Given the description of an element on the screen output the (x, y) to click on. 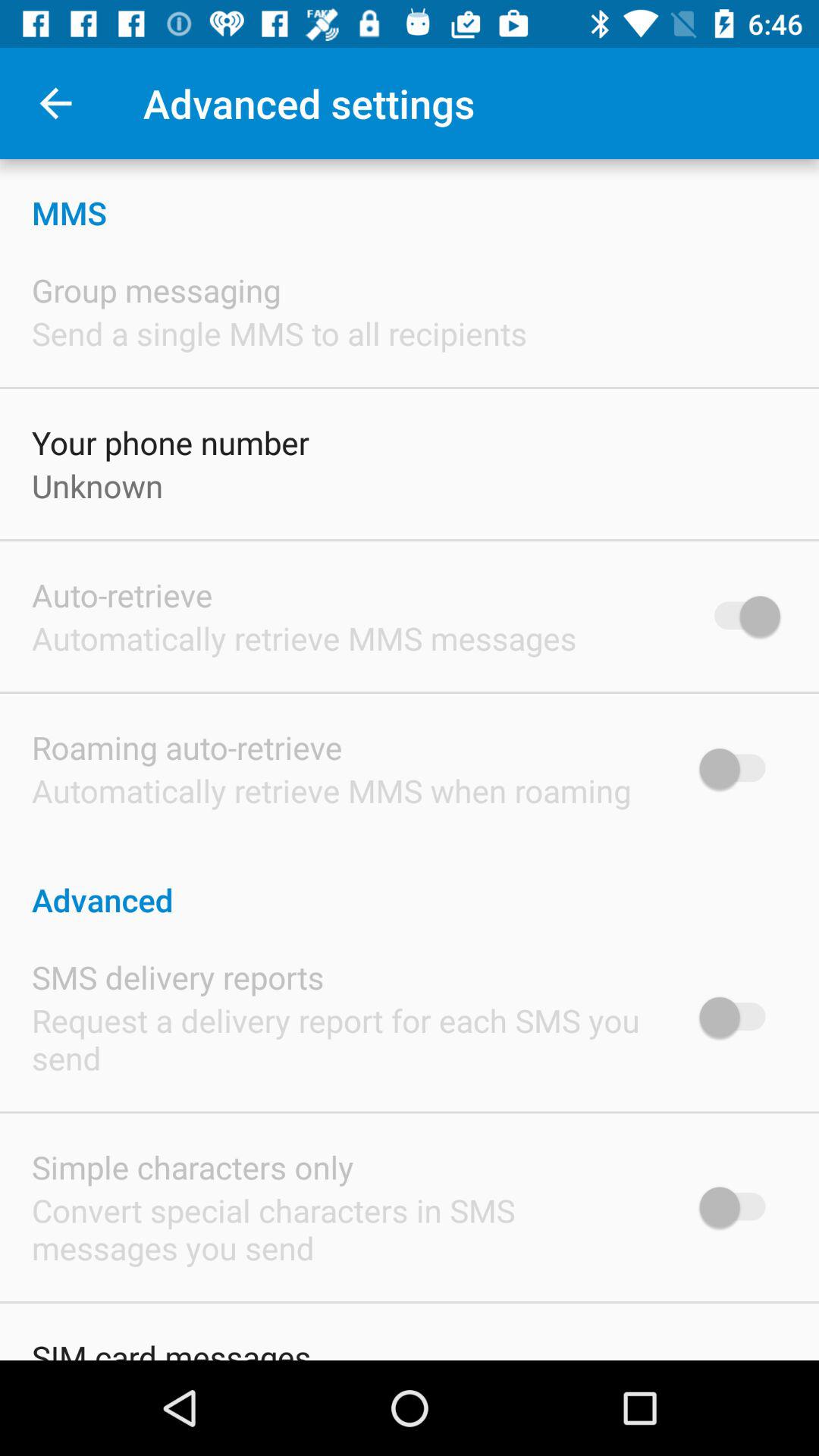
turn on simple characters only (192, 1166)
